Given the description of an element on the screen output the (x, y) to click on. 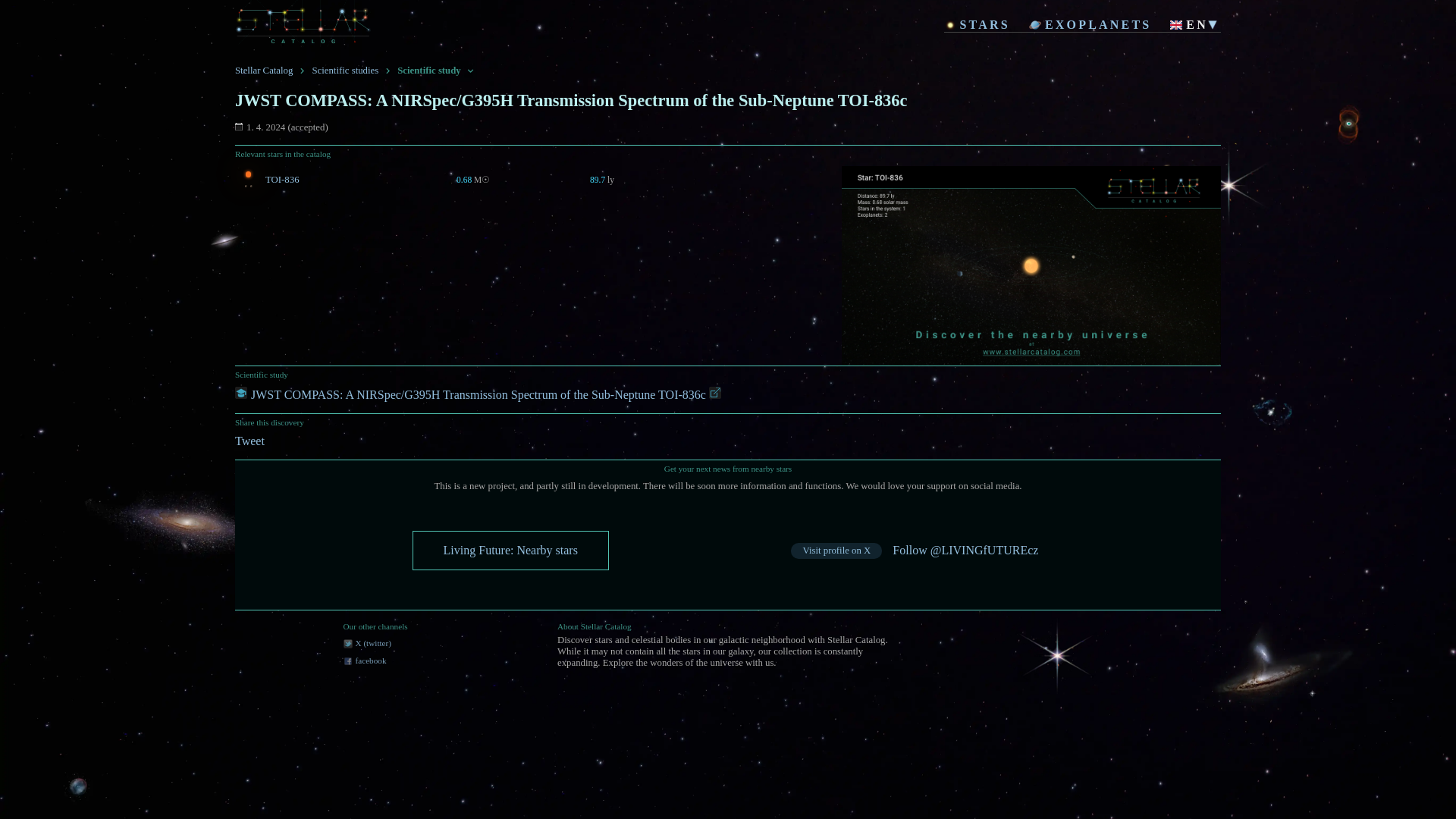
facebook (399, 660)
Stellar Catalog (263, 72)
TOI-836 (315, 179)
Living Future: Nearby stars (511, 549)
Scientific studies (344, 72)
Tweet (249, 440)
Visit profile on X (836, 550)
